Given the description of an element on the screen output the (x, y) to click on. 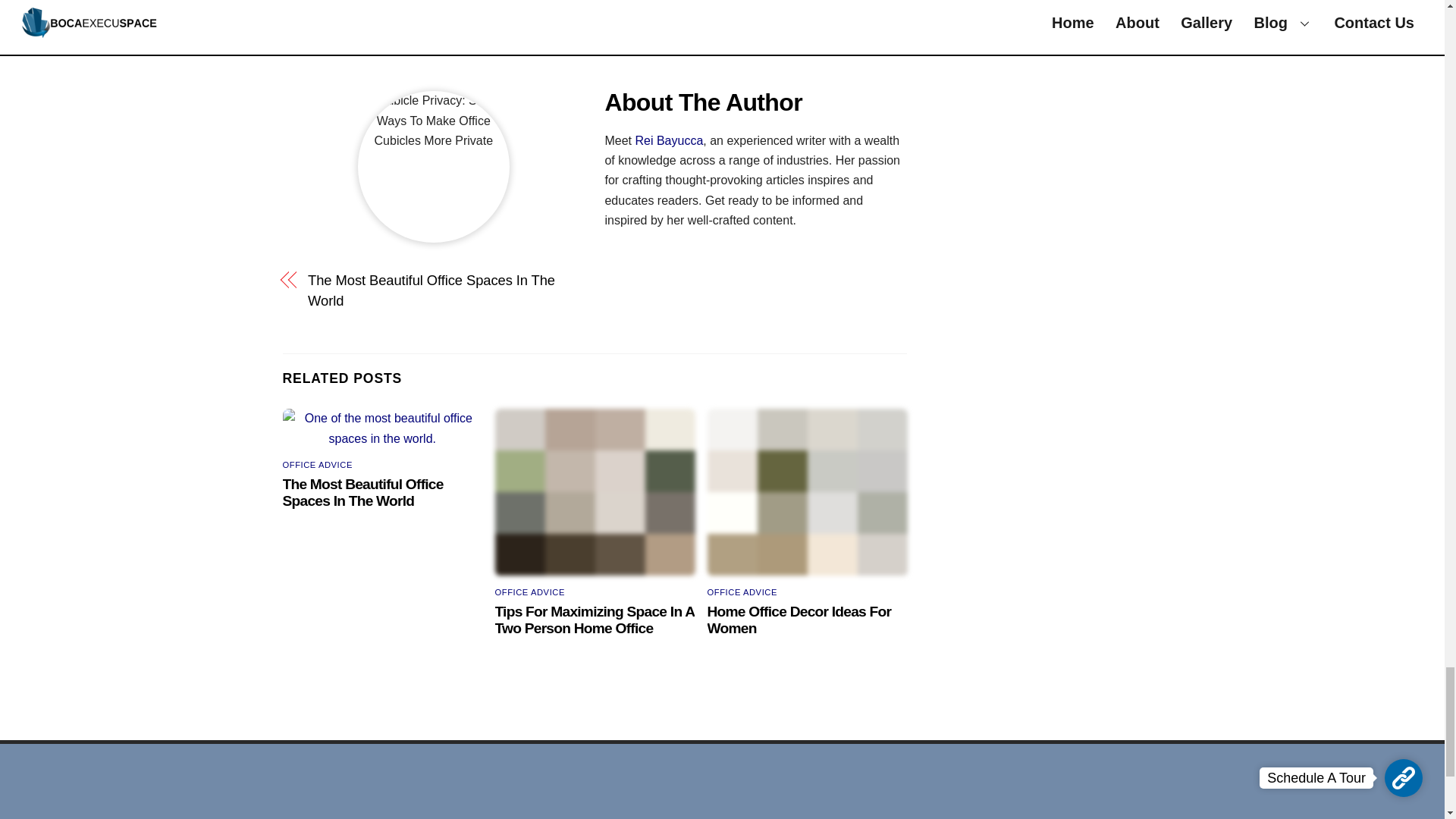
Tips For Maximizing Space In A Two Person Home Office (594, 619)
The Most Beautiful Office Spaces In The World (362, 491)
Rei Bayucca (668, 140)
Home Office Decor Ideas For Women (799, 619)
OFFICE ADVICE (529, 592)
The Most Beautiful Office Spaces In The World (441, 291)
OFFICE ADVICE (742, 592)
OFFICE ADVICE (317, 464)
